Given the description of an element on the screen output the (x, y) to click on. 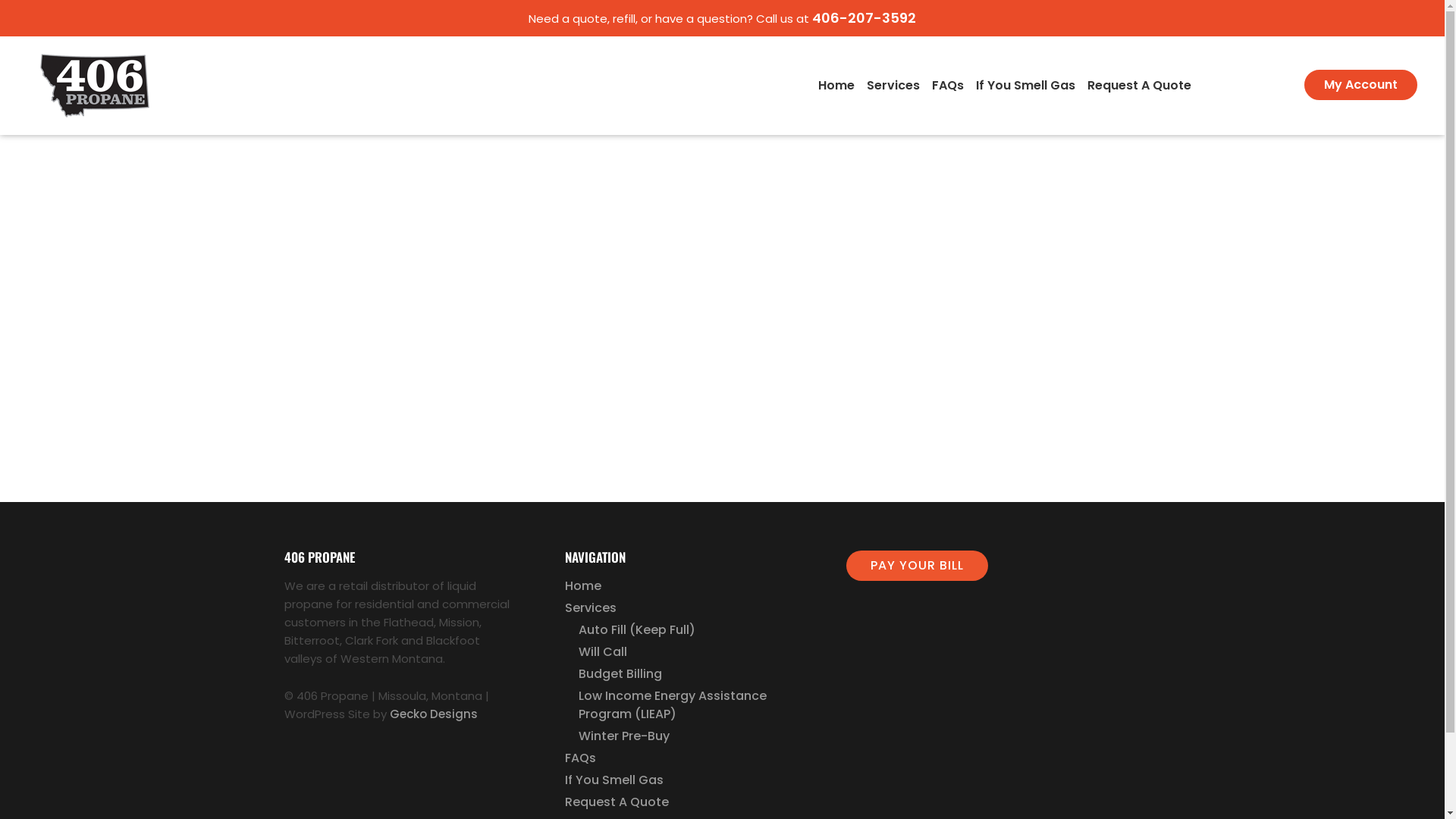
Will Call Element type: text (602, 652)
Gecko Designs Element type: text (433, 713)
My Account Element type: text (1360, 84)
Request A Quote Element type: text (1139, 85)
FAQs Element type: text (947, 85)
PAY YOUR BILL Element type: text (917, 565)
Auto Fill (Keep Full) Element type: text (636, 630)
If You Smell Gas Element type: text (613, 780)
Services Element type: text (892, 85)
Pay Bill Element type: text (1250, 84)
Low Income Energy Assistance Program (LIEAP) Element type: text (694, 705)
Budget Billing Element type: text (620, 674)
406-207-3592 Element type: text (864, 17)
Services Element type: text (590, 608)
Winter Pre-Buy Element type: text (623, 736)
Home Element type: text (836, 85)
If You Smell Gas Element type: text (1025, 85)
Request A Quote Element type: text (616, 802)
406 Propane Element type: hover (94, 84)
Home Element type: text (582, 586)
FAQs Element type: text (580, 758)
